Given the description of an element on the screen output the (x, y) to click on. 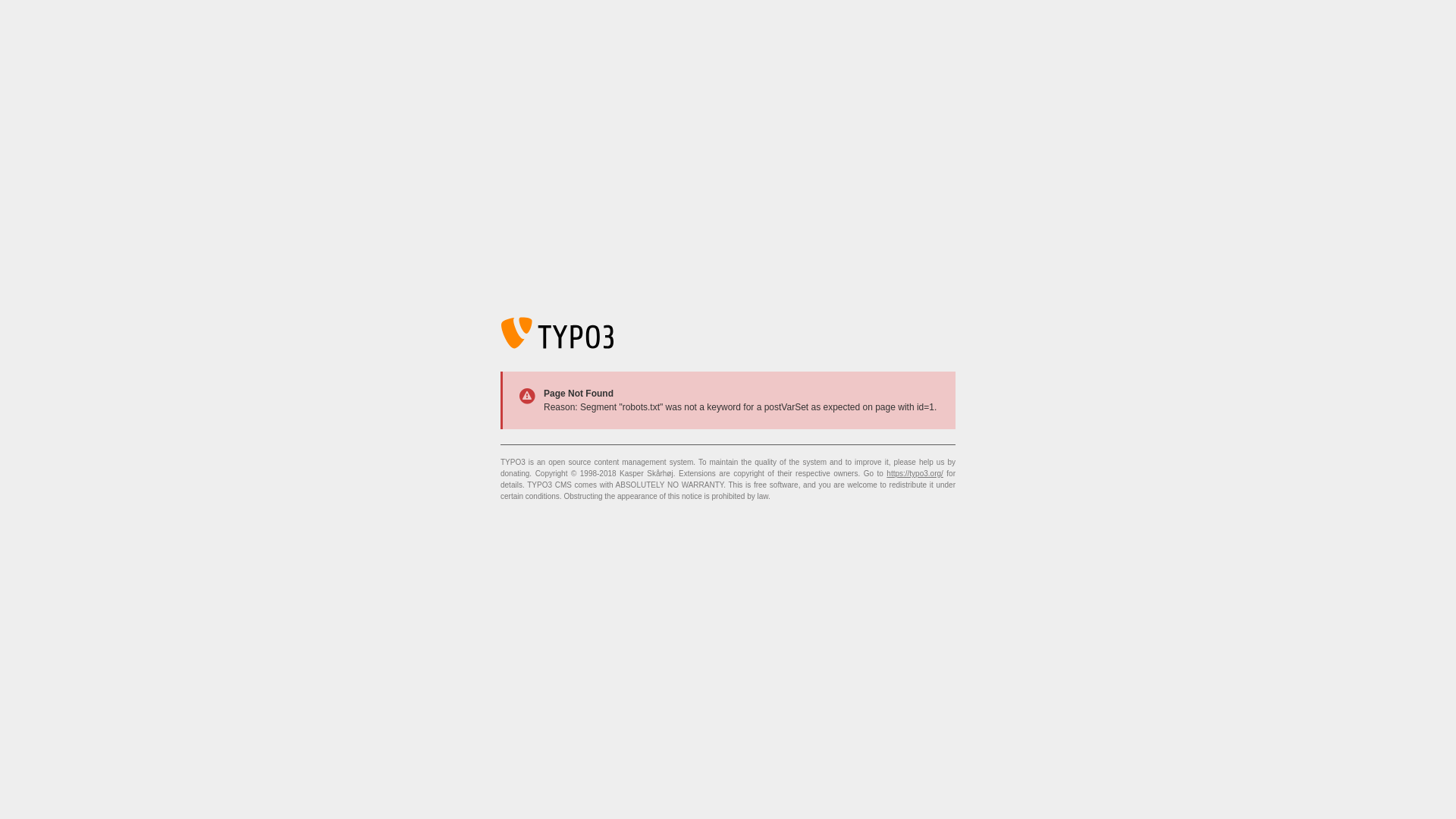
https://typo3.org/ Element type: text (914, 473)
